Given the description of an element on the screen output the (x, y) to click on. 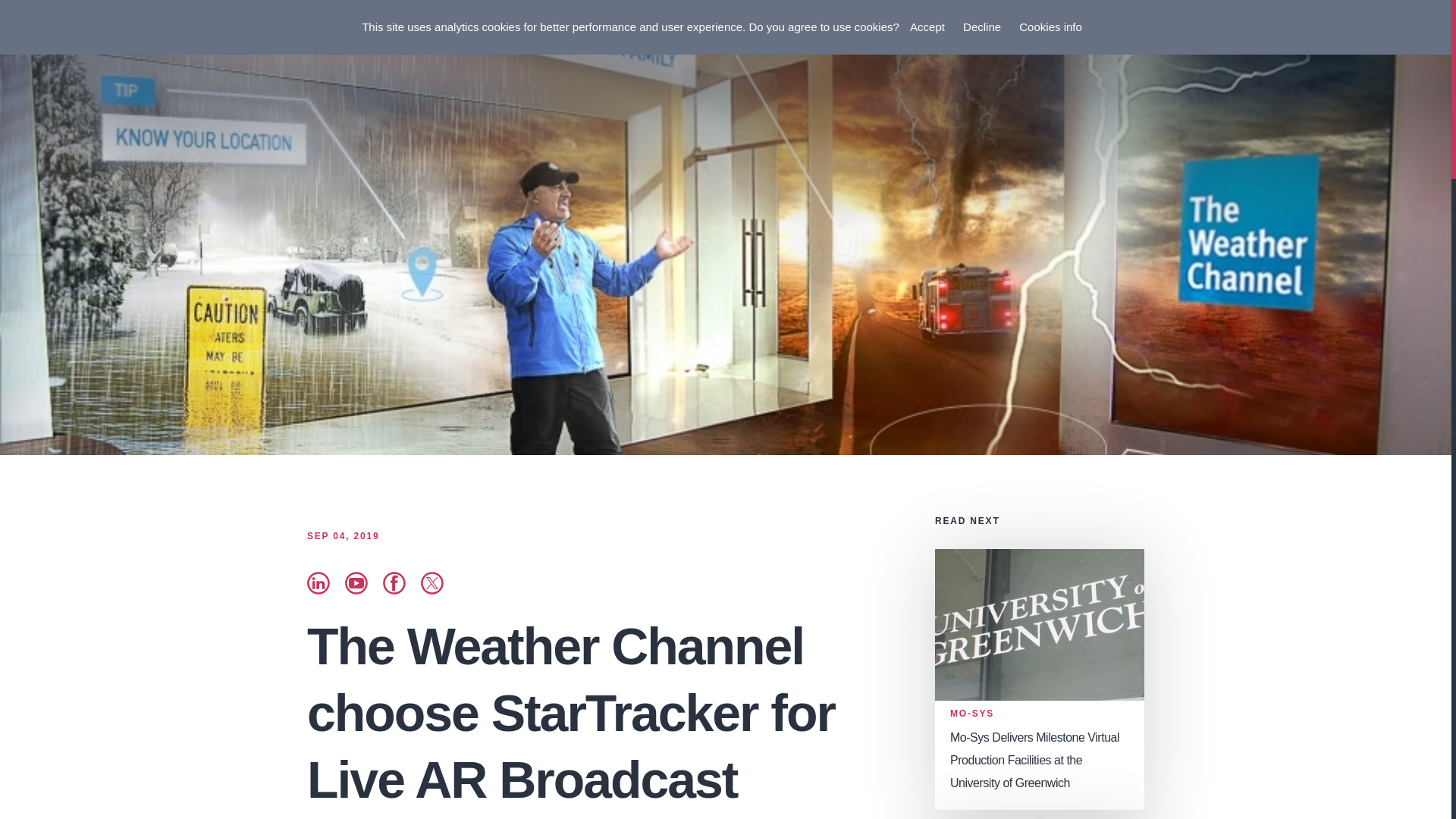
Mo-Sys Academy (1110, 29)
Support (1277, 29)
About Us (1334, 29)
Contact (1393, 29)
Products (1028, 29)
Mo-Sys Homepage (63, 33)
Lens (1229, 29)
